Given the description of an element on the screen output the (x, y) to click on. 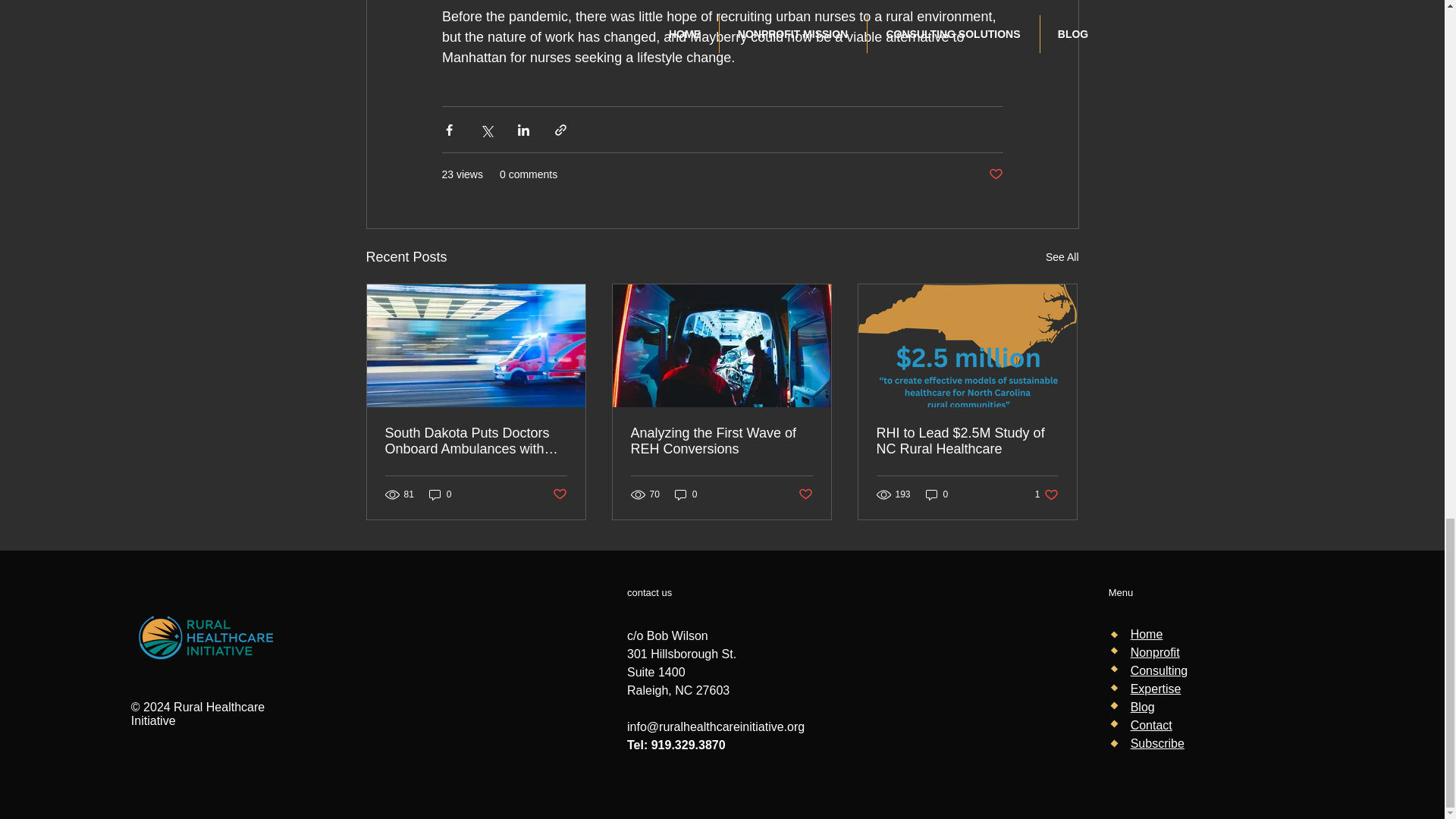
Blog (1142, 707)
Expertise (1155, 688)
0 (937, 493)
Home (1147, 634)
Consulting (1159, 670)
Contact (1151, 725)
Post not marked as liked (804, 494)
Nonprofit (1155, 652)
0 (440, 493)
